Given the description of an element on the screen output the (x, y) to click on. 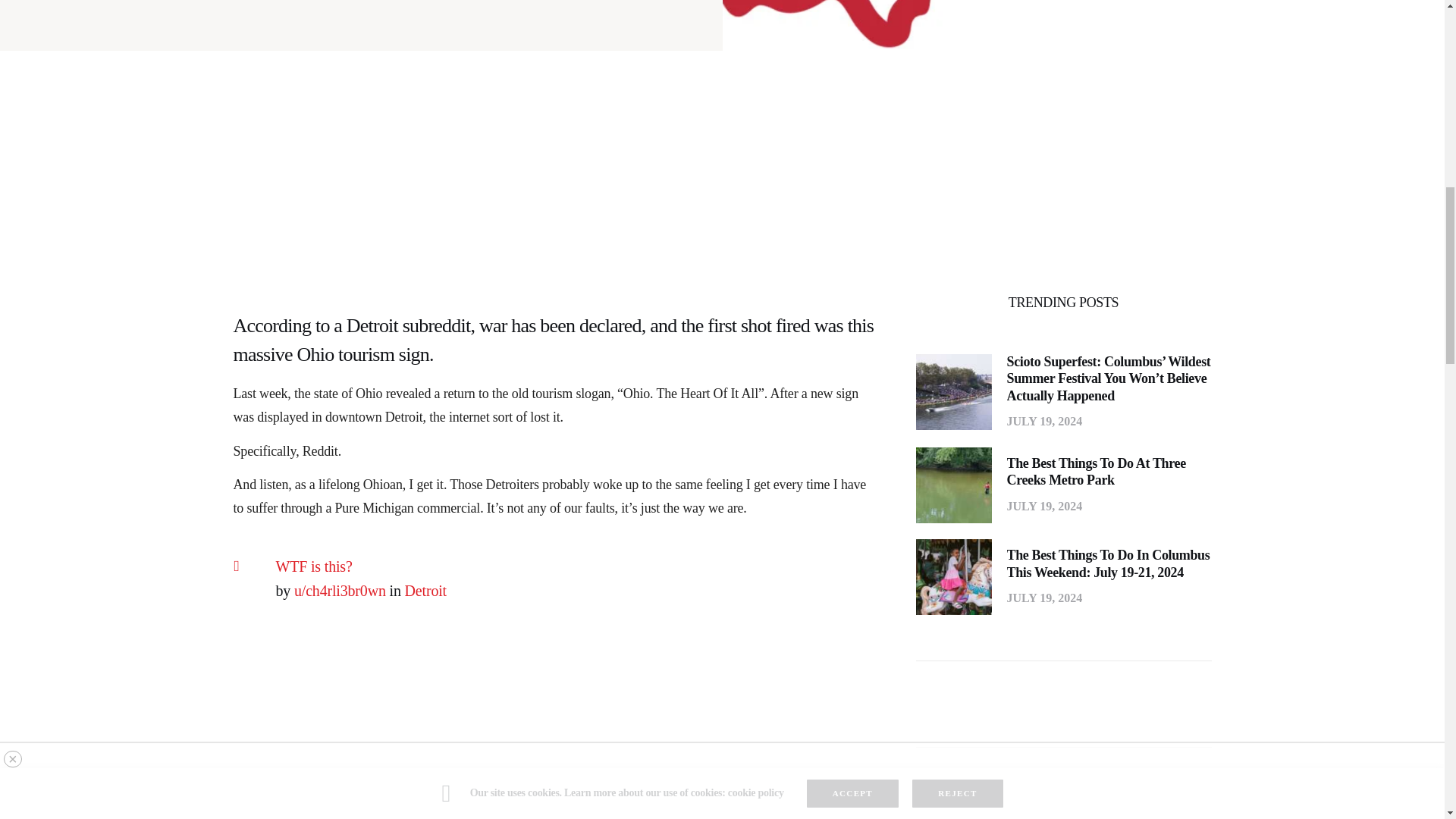
Detroit (425, 590)
WTF is this? (313, 565)
